Given the description of an element on the screen output the (x, y) to click on. 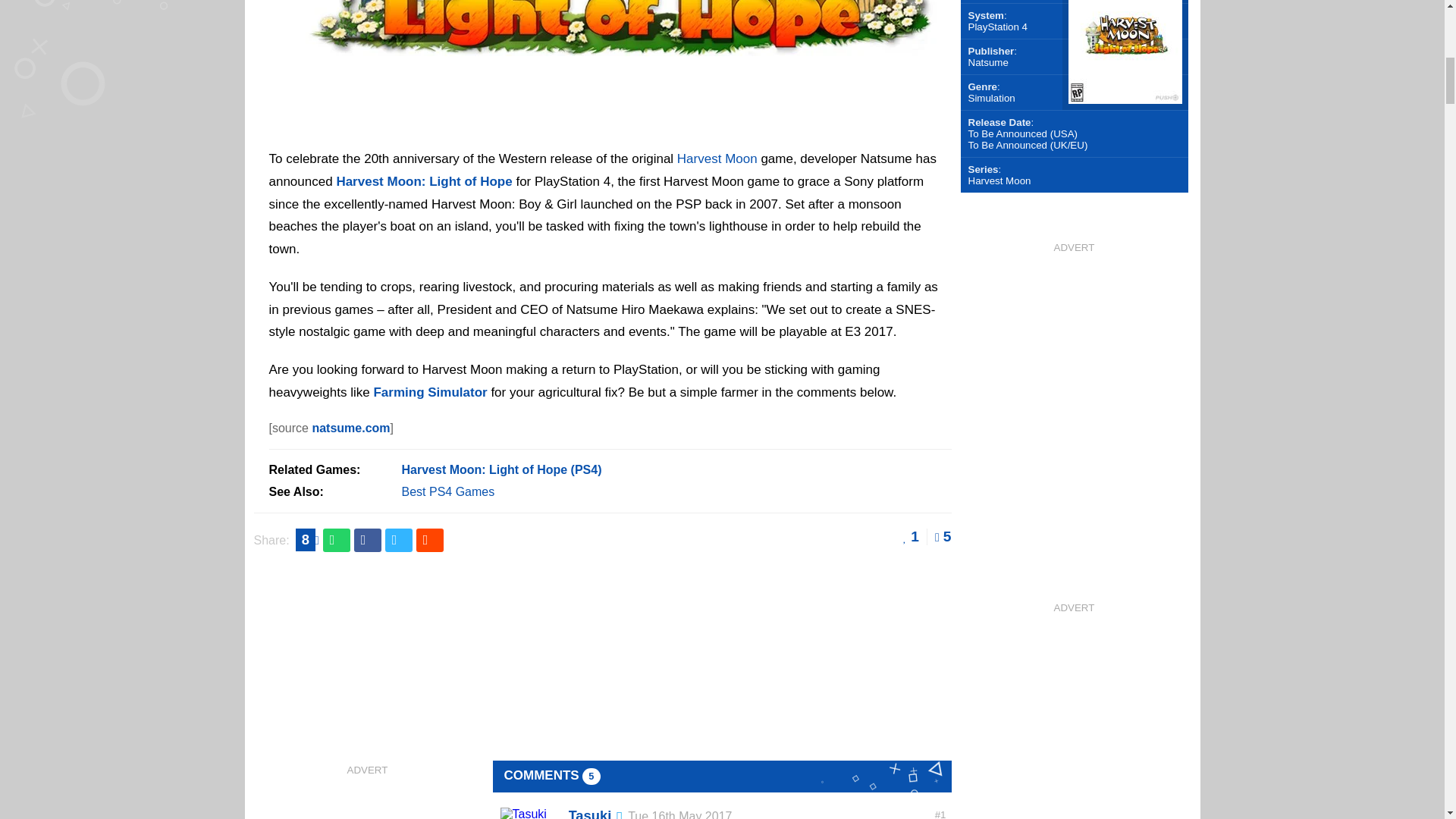
Harvest Moon Light of Hope PS4 PlayStation 4 1 (608, 123)
